Given the description of an element on the screen output the (x, y) to click on. 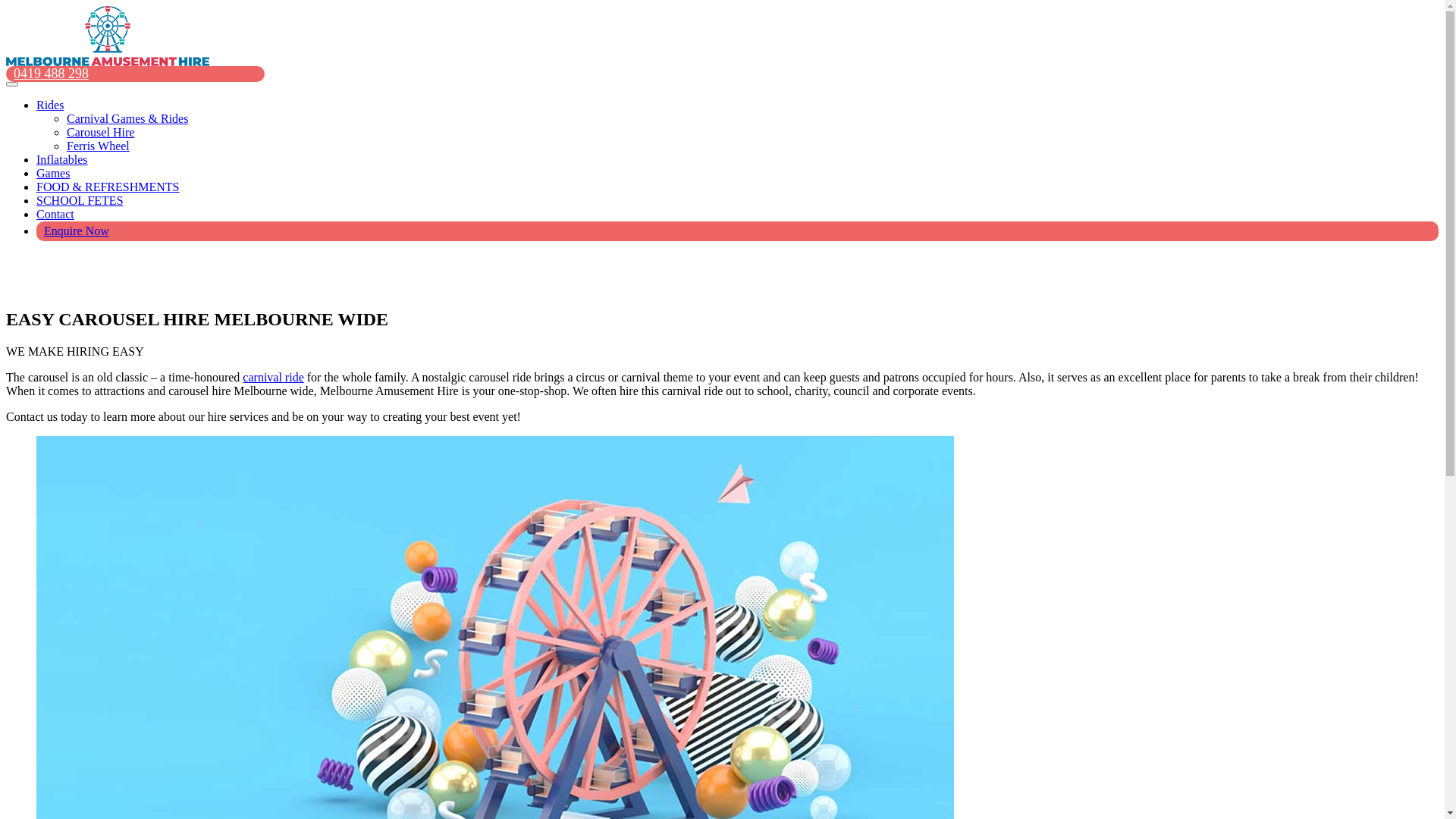
0419 488 298 Element type: text (50, 73)
Enquire Now Element type: text (76, 230)
Ferris Wheel Element type: text (97, 145)
carnival ride Element type: text (272, 376)
SCHOOL FETES Element type: text (79, 200)
Inflatables Element type: text (61, 159)
Contact Element type: text (55, 213)
FOOD & REFRESHMENTS Element type: text (107, 186)
Carousel Hire Element type: text (100, 131)
Carnival Games & Rides Element type: text (127, 118)
Games Element type: text (52, 172)
Rides Element type: text (49, 104)
